Given the description of an element on the screen output the (x, y) to click on. 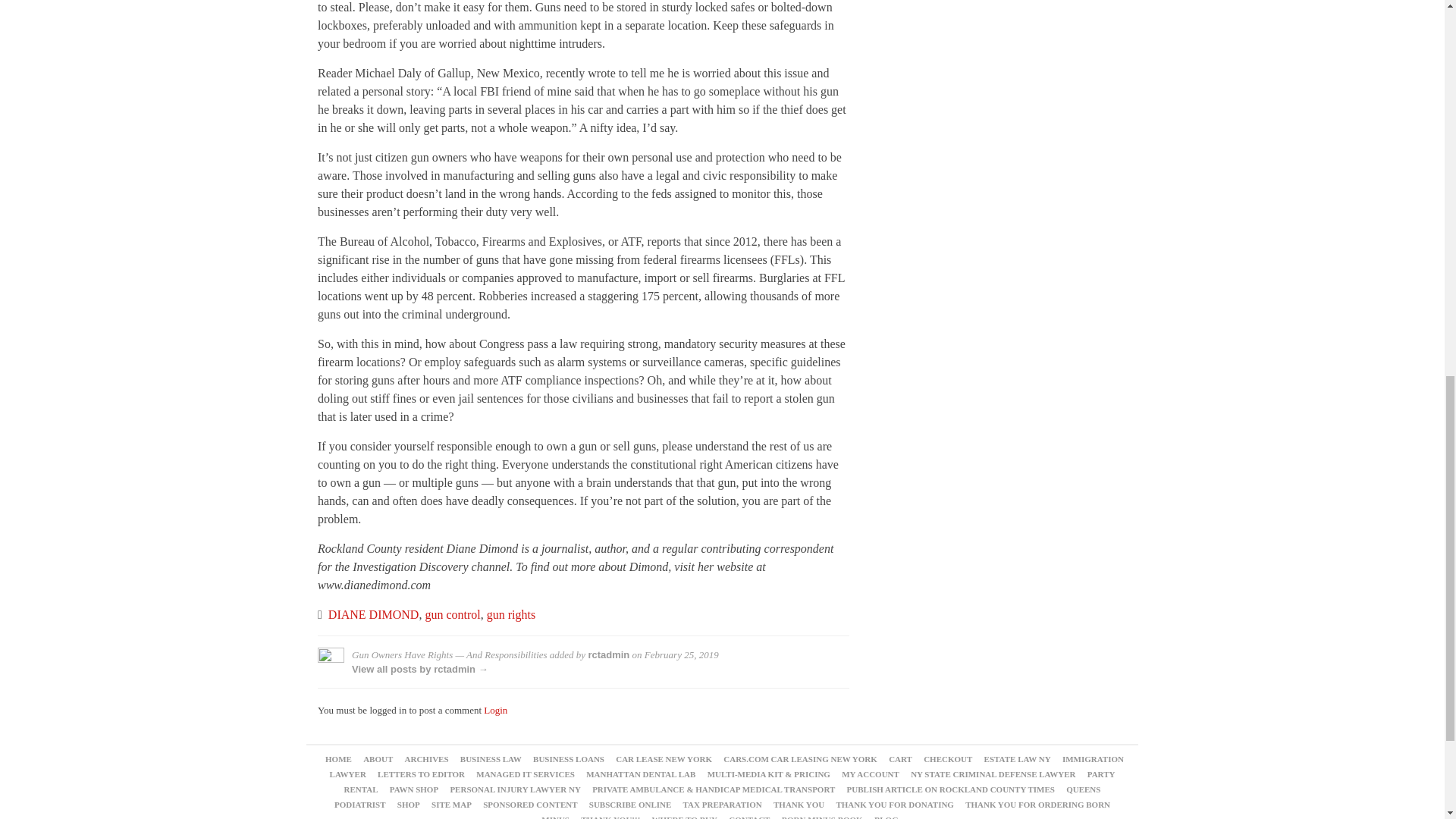
gun control (452, 614)
DIANE DIMOND (374, 614)
rctadmin (608, 654)
gun rights (510, 614)
